Given the description of an element on the screen output the (x, y) to click on. 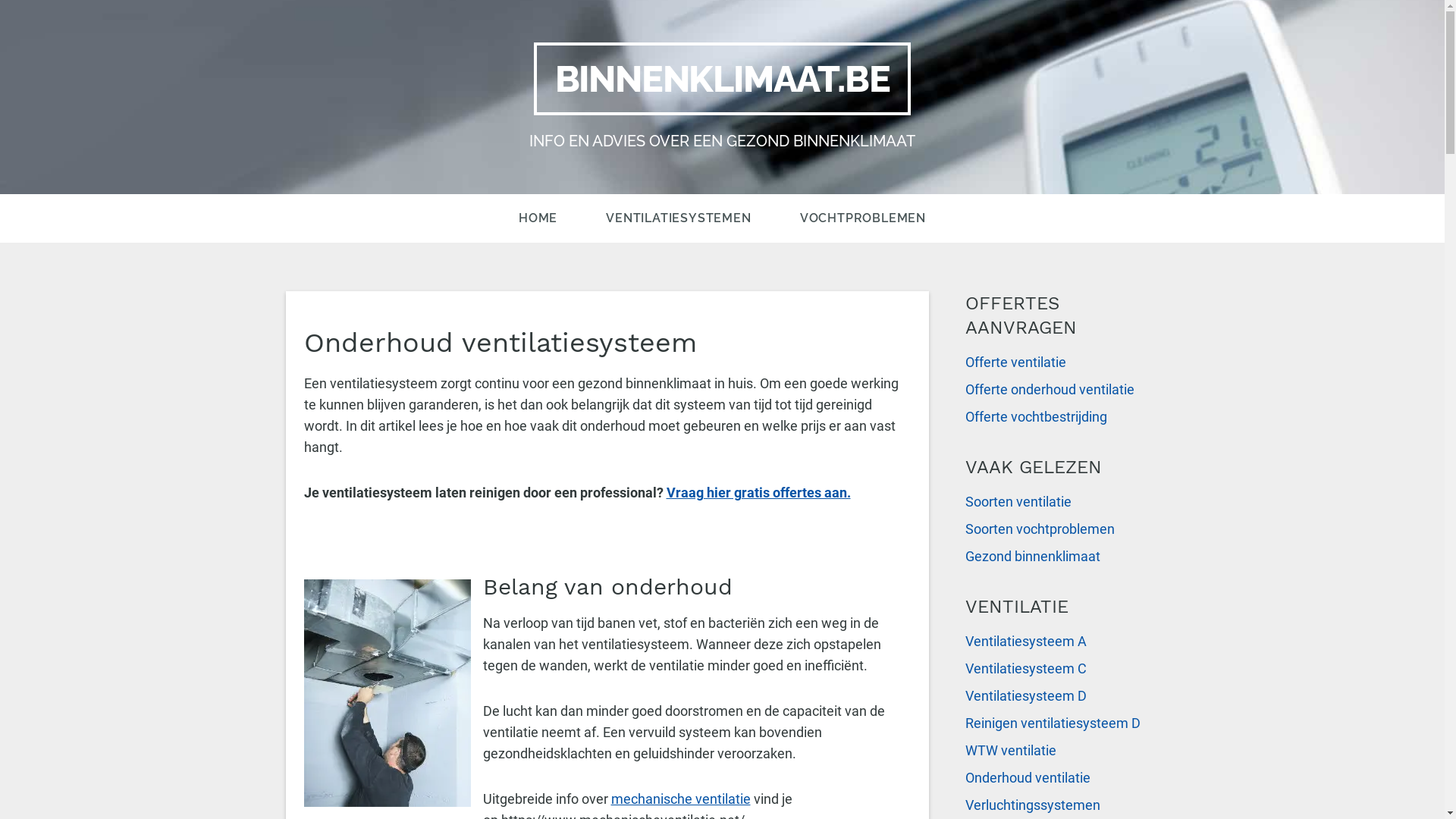
Offerte ventilatie Element type: text (1061, 362)
Reinigen ventilatiesysteem D Element type: text (1061, 723)
Soorten vochtproblemen Element type: text (1061, 528)
Vraag hier gratis offertes aan. Element type: text (757, 492)
Ventilatiesysteem A Element type: text (1061, 641)
Offerte onderhoud ventilatie Element type: text (1061, 389)
VOCHTPROBLEMEN Element type: text (862, 218)
VENTILATIESYSTEMEN Element type: text (678, 218)
BINNENKLIMAAT.BE Element type: text (722, 78)
Ventilatiesysteem C Element type: text (1061, 668)
Gezond binnenklimaat Element type: text (1061, 556)
HOME Element type: text (537, 218)
Soorten ventilatie Element type: text (1061, 501)
Onderhoud ventilatie Element type: text (1061, 777)
mechanische ventilatie Element type: text (680, 798)
Offerte vochtbestrijding Element type: text (1061, 416)
WTW ventilatie Element type: text (1061, 750)
Ventilatiesysteem D Element type: text (1061, 695)
